Given the description of an element on the screen output the (x, y) to click on. 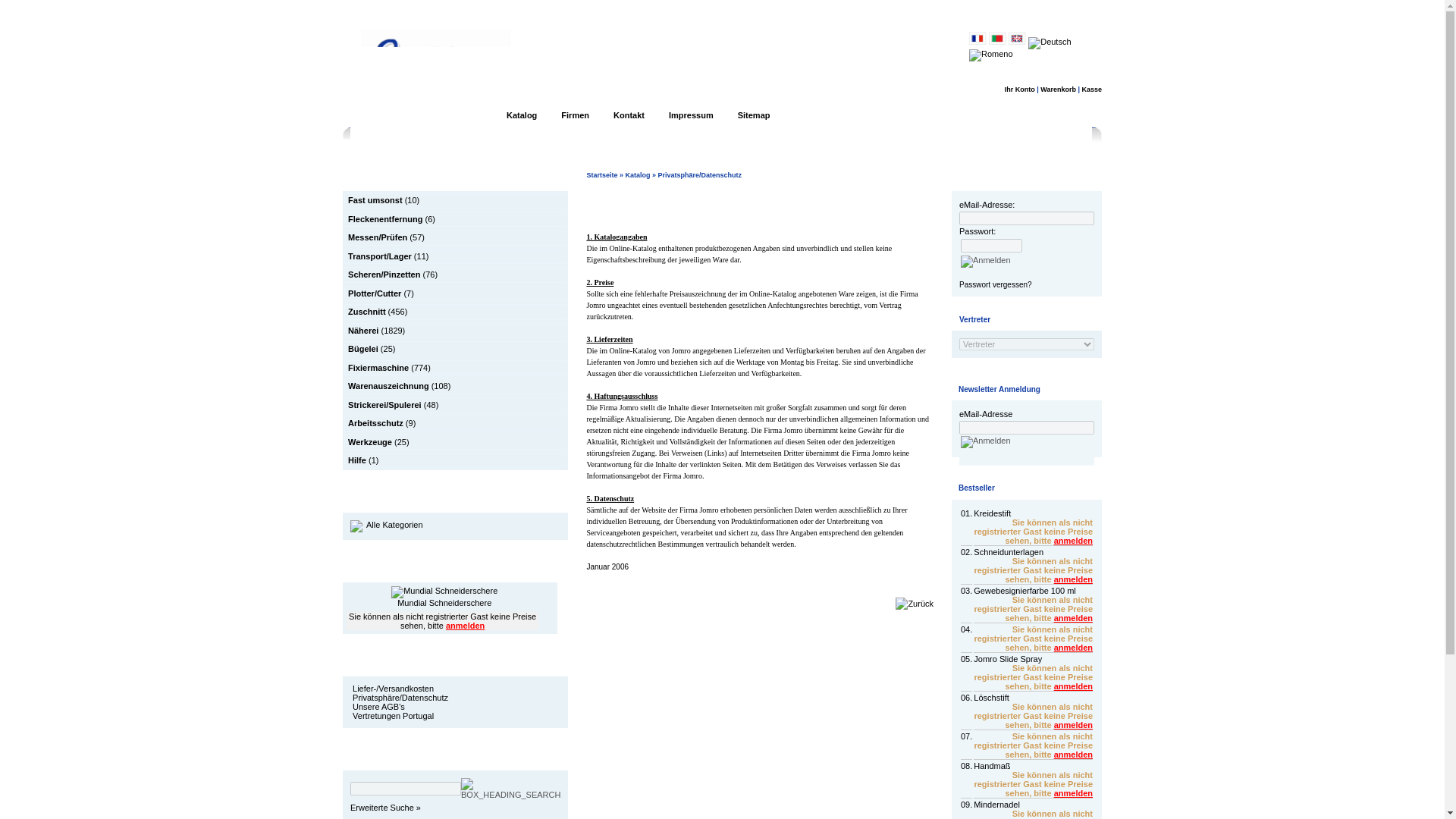
Arbeitsschutz (375, 422)
Startseite (601, 175)
Sitemap (754, 114)
Kontakt (628, 114)
Fixiermaschine (378, 366)
Kasse (1091, 89)
Firmen (574, 114)
 Anmelden  (985, 261)
 English  (1017, 38)
 Anmelden  (985, 440)
